Given the description of an element on the screen output the (x, y) to click on. 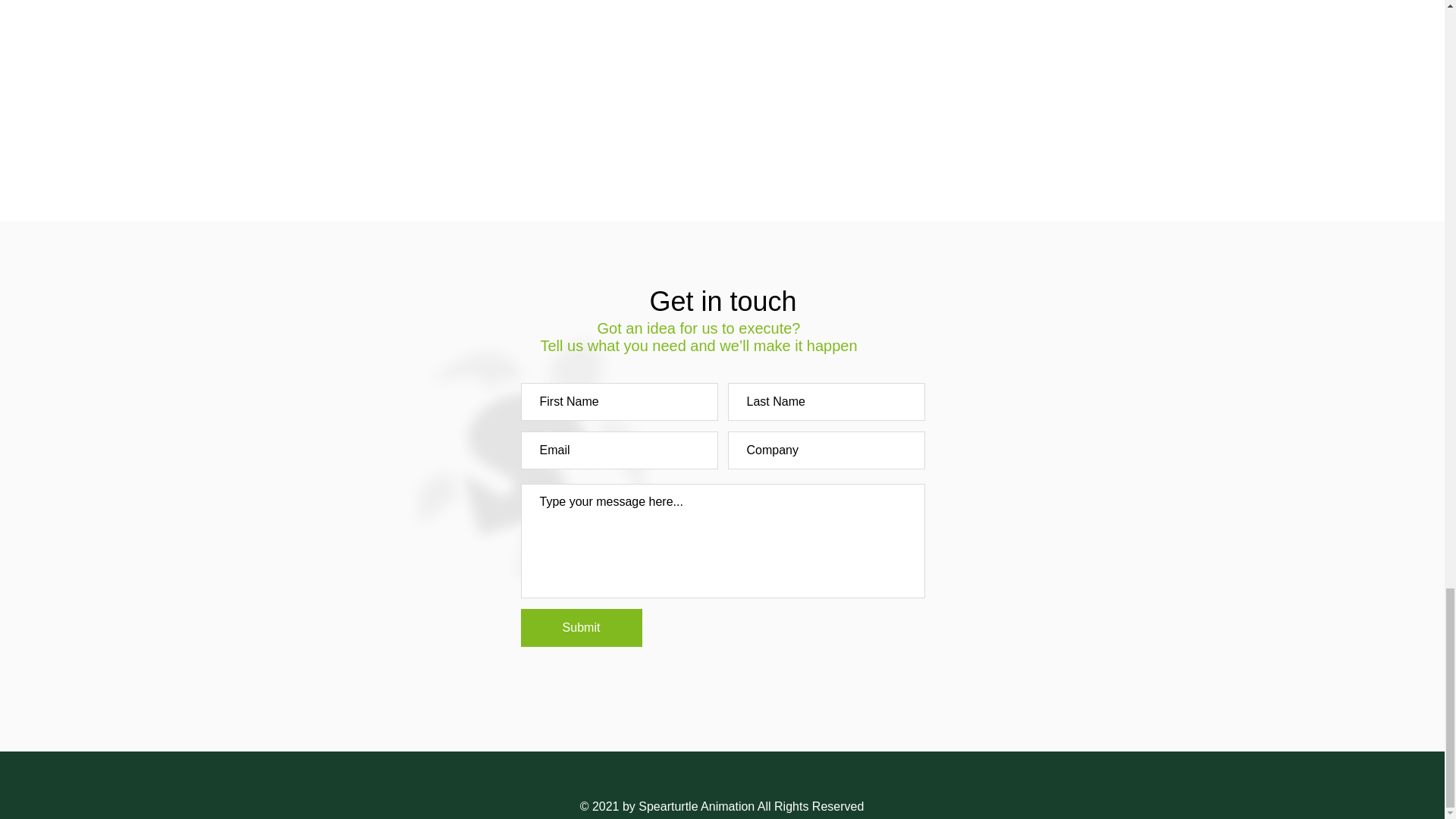
Submit (580, 628)
